Given the description of an element on the screen output the (x, y) to click on. 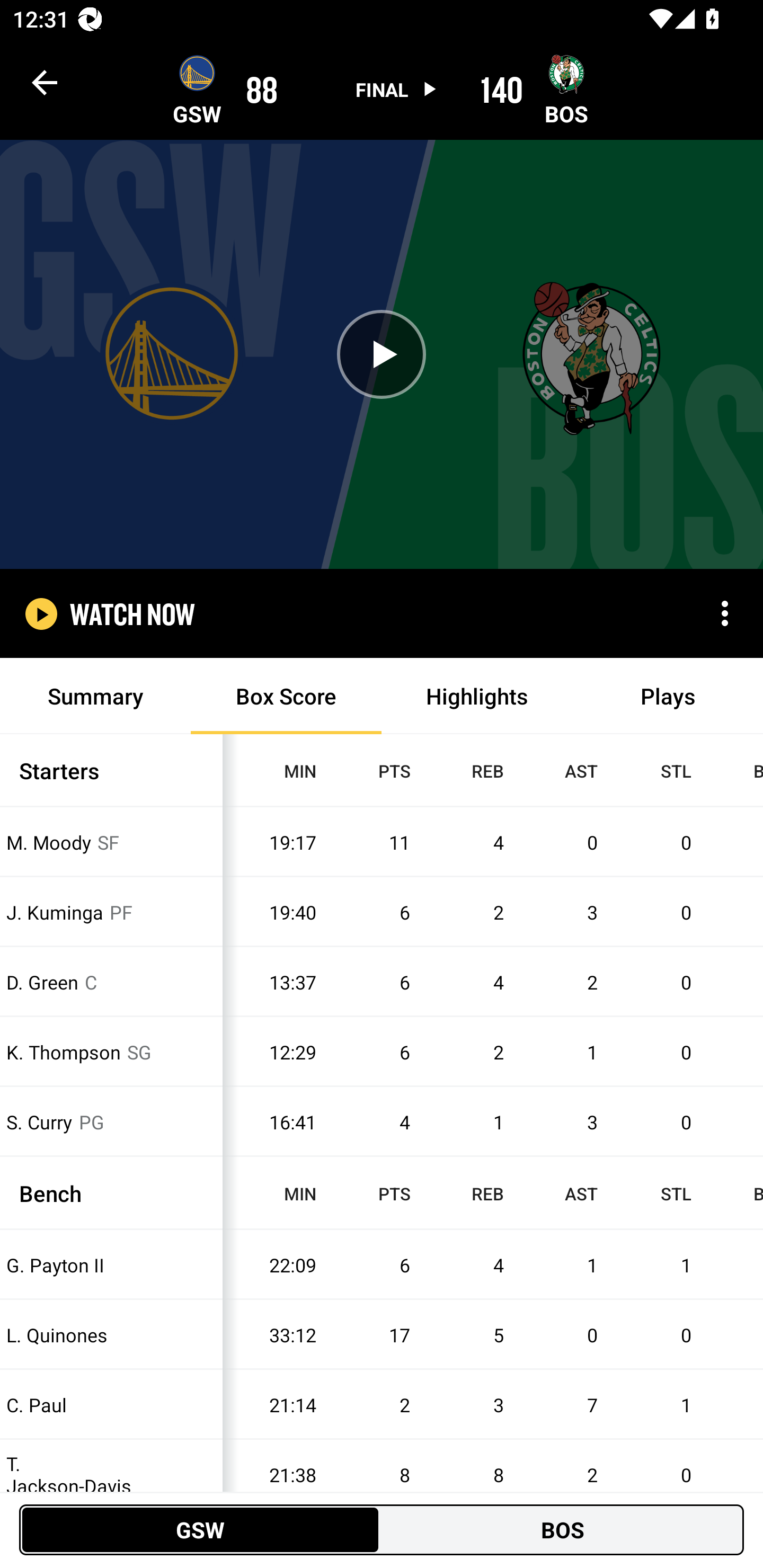
Navigate up (44, 82)
More options (724, 613)
WATCH NOW (132, 613)
Summary (95, 695)
Highlights (476, 695)
Plays (667, 695)
M. Moody SF (111, 841)
J. Kuminga PF (111, 911)
D. Green C (111, 982)
K. Thompson SG (111, 1051)
S. Curry PG (111, 1121)
G. Payton II (111, 1264)
L. Quinones (111, 1334)
C. Paul (111, 1404)
T. Jackson-Davis (111, 1474)
BOS (562, 1529)
